Given the description of an element on the screen output the (x, y) to click on. 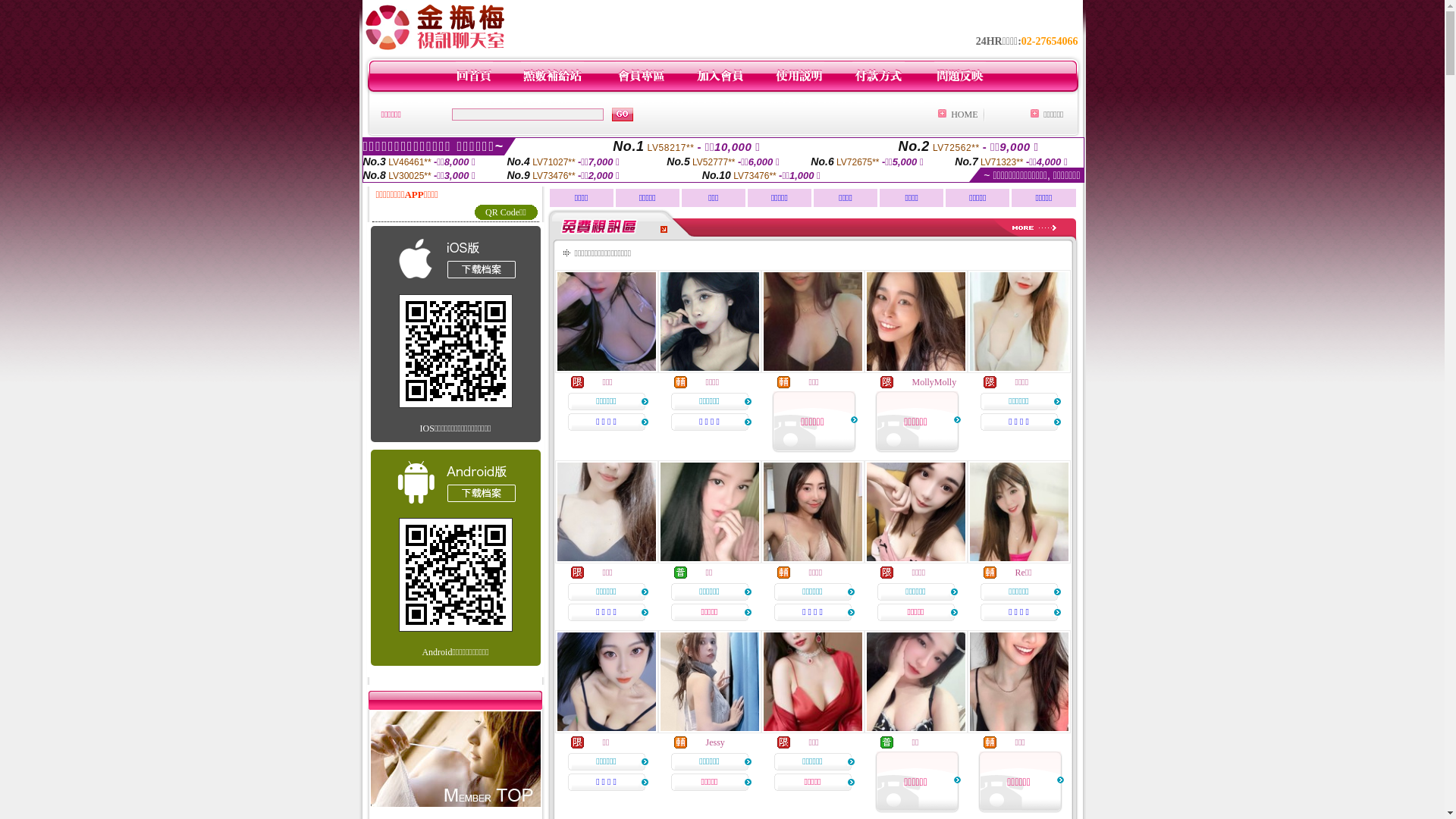
Jessy Element type: text (714, 742)
MollyMolly Element type: text (933, 381)
HOME Element type: text (963, 114)
